Given the description of an element on the screen output the (x, y) to click on. 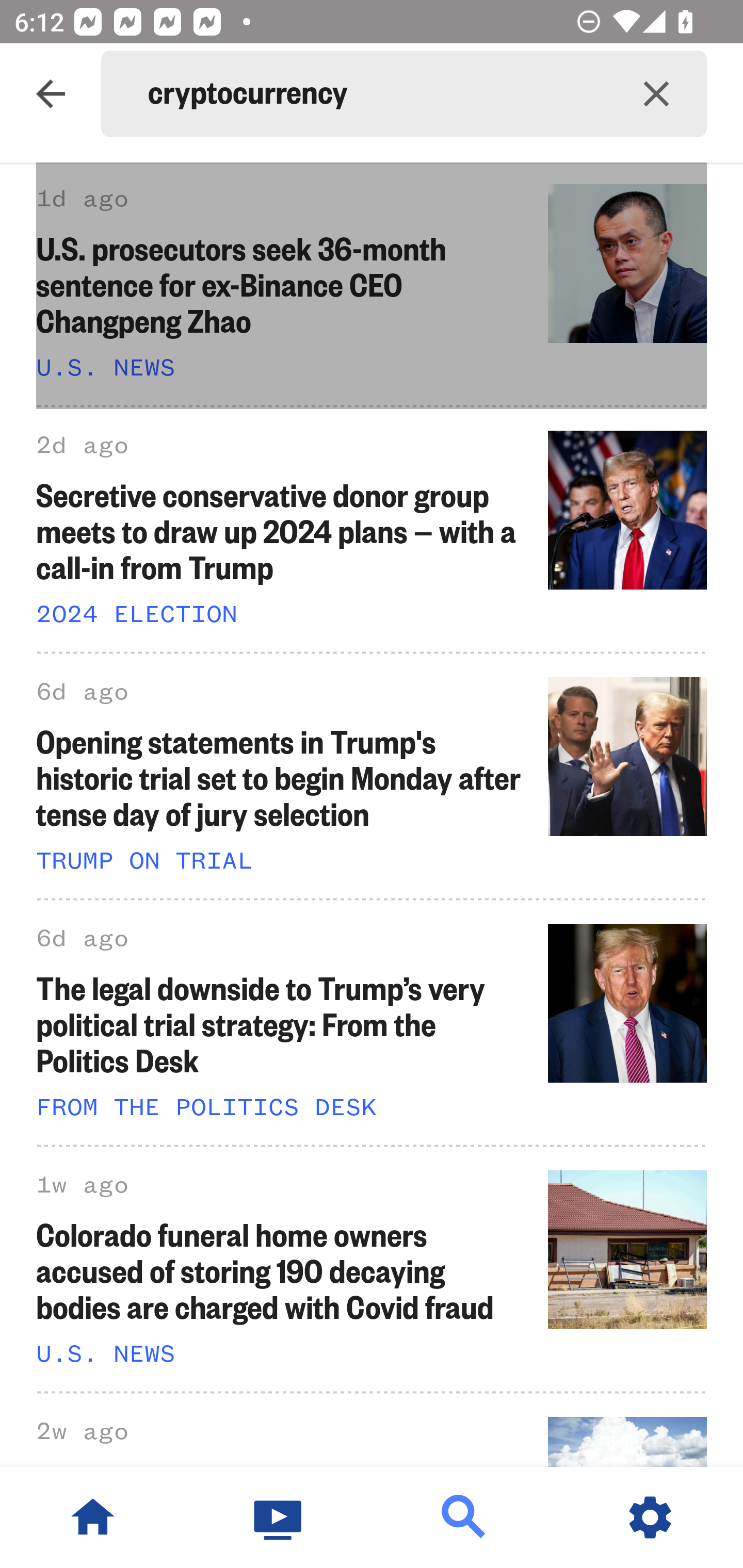
Navigate up (50, 93)
Clear query (656, 93)
cryptocurrency (376, 94)
NBC News Home (92, 1517)
Watch (278, 1517)
Settings (650, 1517)
